Given the description of an element on the screen output the (x, y) to click on. 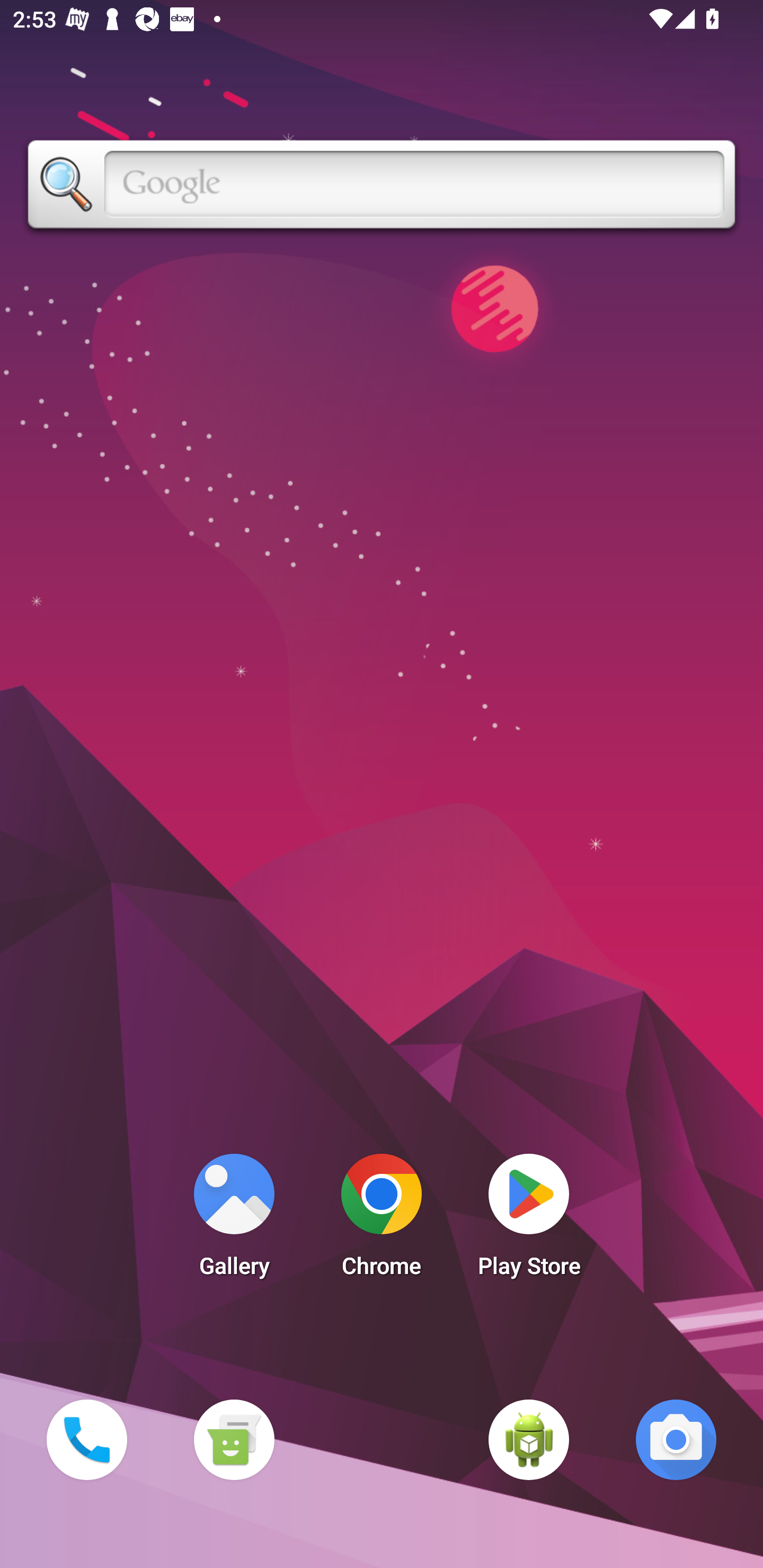
Gallery (233, 1220)
Chrome (381, 1220)
Play Store (528, 1220)
Phone (86, 1439)
Messaging (233, 1439)
WebView Browser Tester (528, 1439)
Camera (676, 1439)
